Given the description of an element on the screen output the (x, y) to click on. 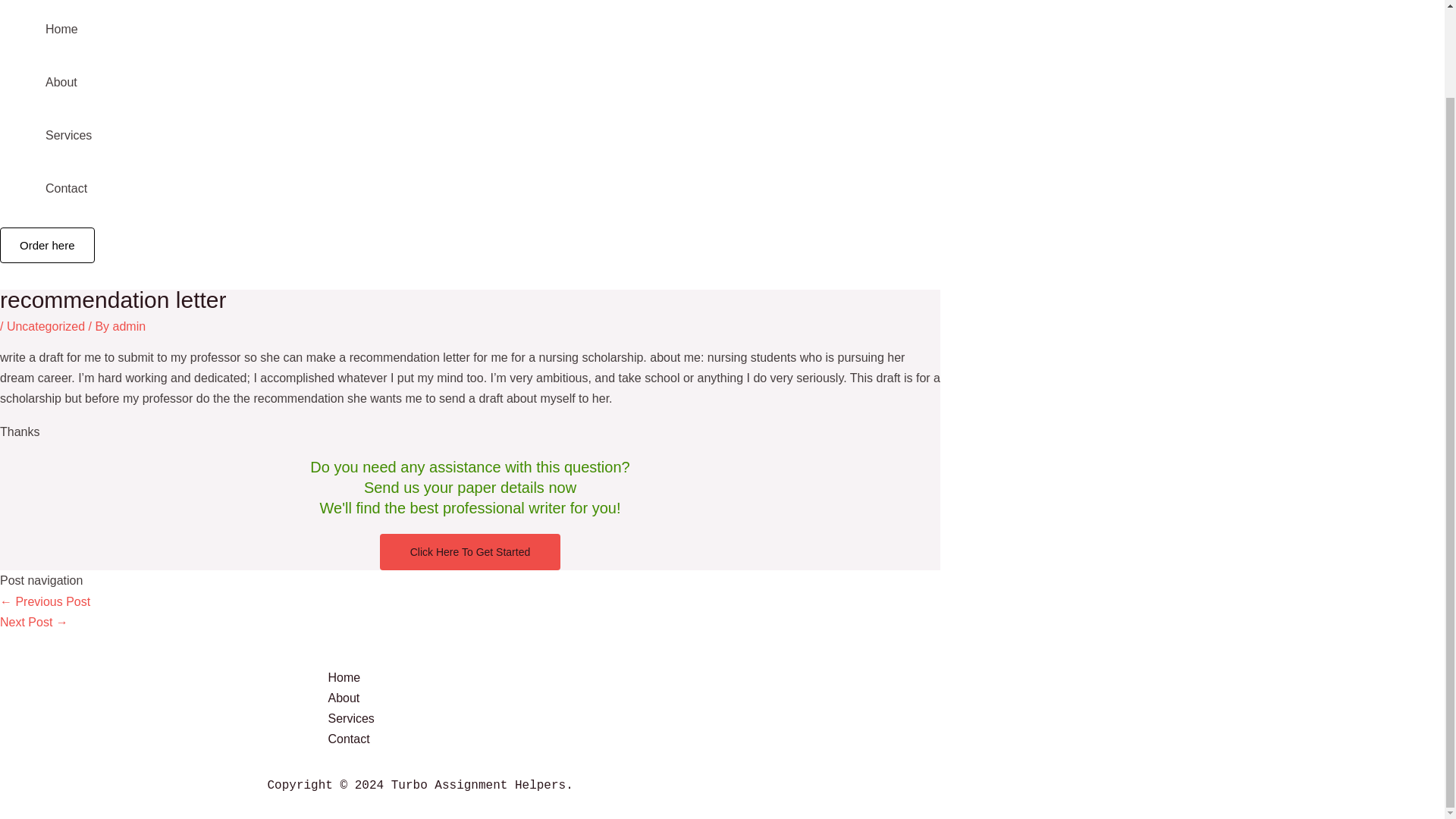
what motivates you to succeed. (34, 621)
explain your reasons for submitting this application (45, 601)
Order here (47, 244)
Click Here To Get Started (470, 551)
Uncategorized (45, 326)
View all posts by admin (130, 326)
About (751, 697)
Services (751, 718)
Contact (751, 738)
admin (130, 326)
Click Here To Get Started (470, 551)
Home (751, 677)
